Given the description of an element on the screen output the (x, y) to click on. 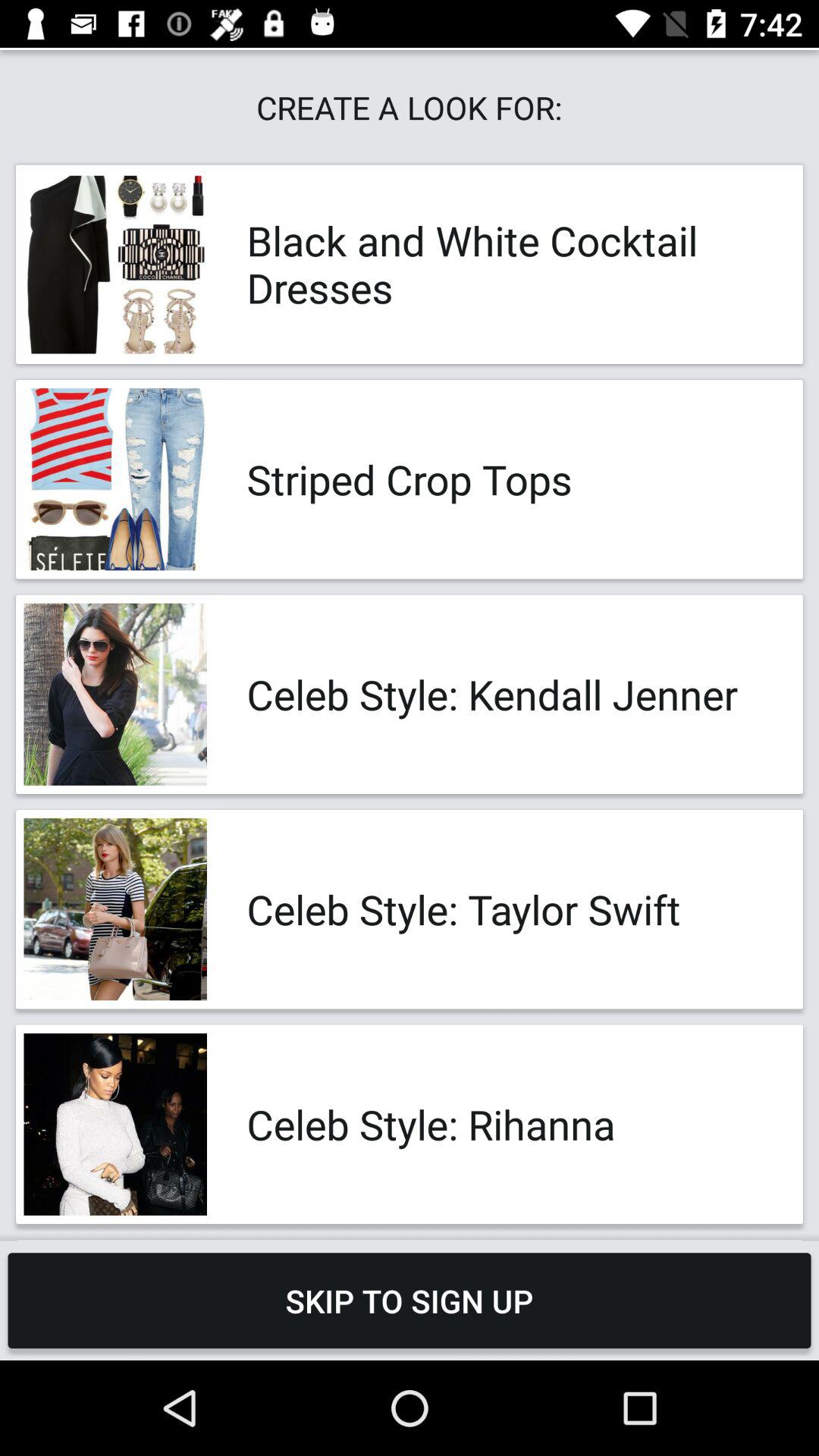
open summer staples under (508, 1240)
